Given the description of an element on the screen output the (x, y) to click on. 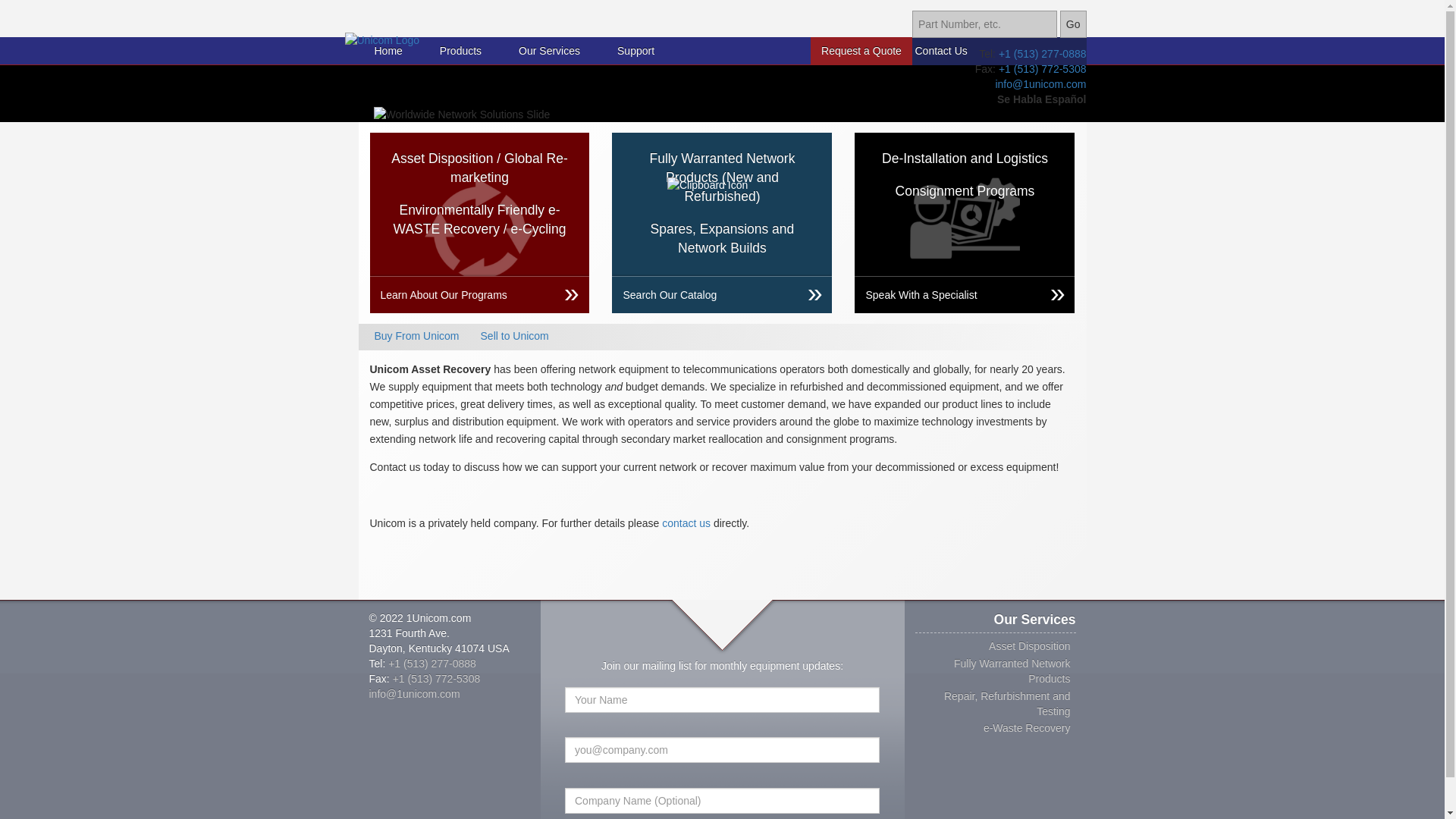
Search Our Catalog Element type: text (721, 294)
+1 (513) 277-0888 Element type: text (1042, 53)
info@1unicom.com Element type: text (1039, 83)
Our Services Element type: text (549, 50)
Speak With a Specialist Element type: text (964, 294)
Request a Quote Element type: text (861, 50)
Sell to Unicom Element type: text (514, 335)
Buy From Unicom Element type: text (416, 335)
Contact Us Element type: text (940, 50)
info@1unicom.com Element type: text (413, 693)
Products Element type: text (460, 50)
Repair, Refurbishment and Testing Element type: text (1007, 703)
Go Element type: text (1073, 23)
Learn About Our Programs Element type: text (479, 294)
Fully Warranted Network Products Element type: text (1011, 670)
Support Element type: text (635, 50)
Home Element type: text (388, 50)
Asset Disposition Element type: text (1029, 646)
e-Waste Recovery Element type: text (1026, 727)
+1 (513) 772-5308 Element type: text (1042, 68)
Skip to main content Element type: text (48, 0)
+1 (513) 772-5308 Element type: text (436, 677)
contact us Element type: text (686, 523)
+1 (513) 277-0888 Element type: text (432, 662)
